Given the description of an element on the screen output the (x, y) to click on. 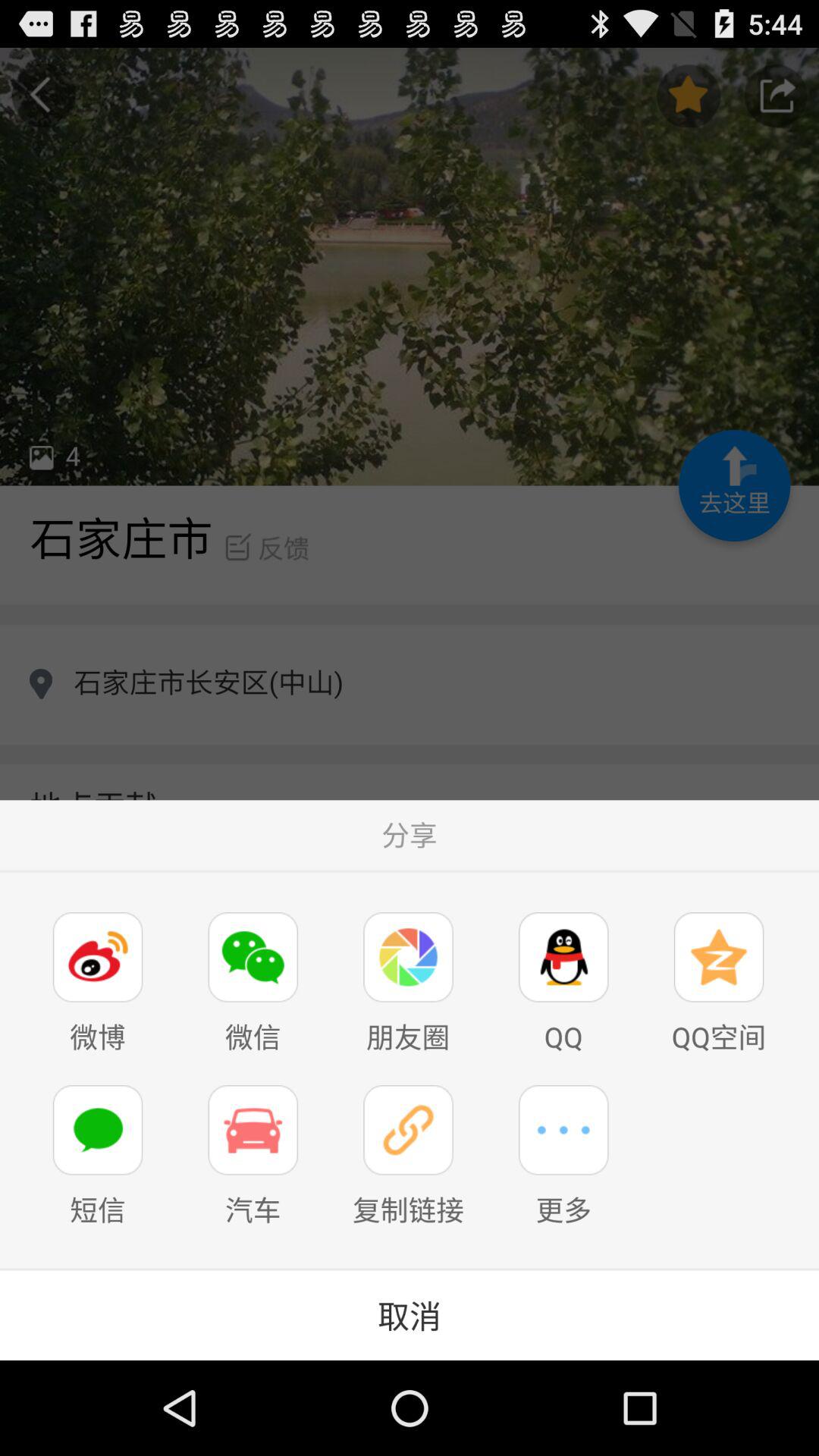
select the third icon from left beside penguin icon (408, 957)
select the icon beside the car icon (408, 1129)
